Given the description of an element on the screen output the (x, y) to click on. 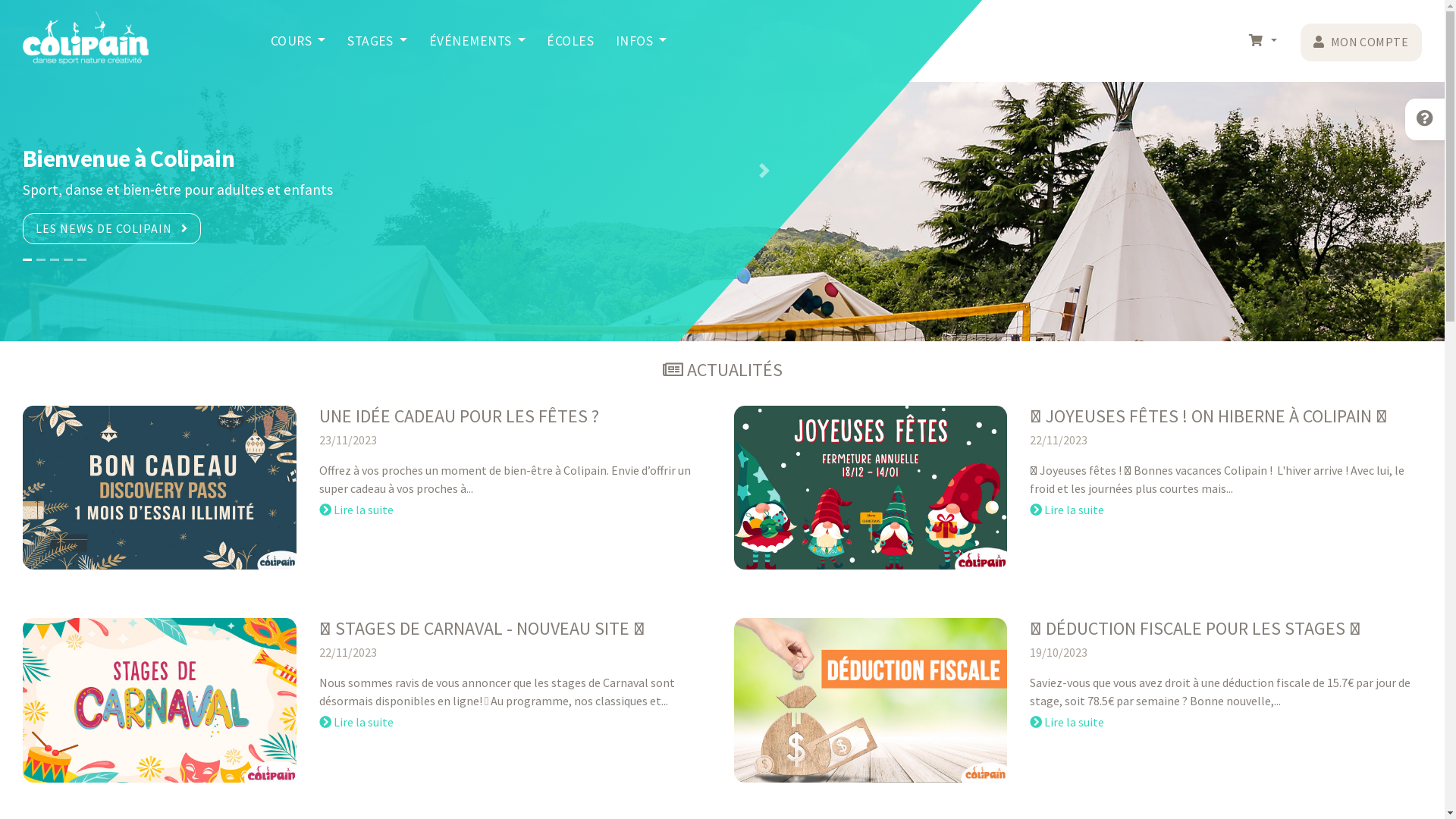
INFOS Element type: text (641, 40)
Lire la suite Element type: text (356, 509)
MON COMPTE Element type: text (1360, 42)
LES NEWS DE COLIPAIN Element type: text (111, 228)
COURS Element type: text (297, 40)
Lire la suite Element type: text (1066, 509)
Lire la suite Element type: text (1066, 721)
STAGES Element type: text (377, 40)
Suivant Element type: text (764, 170)
Lire la suite Element type: text (356, 721)
